Given the description of an element on the screen output the (x, y) to click on. 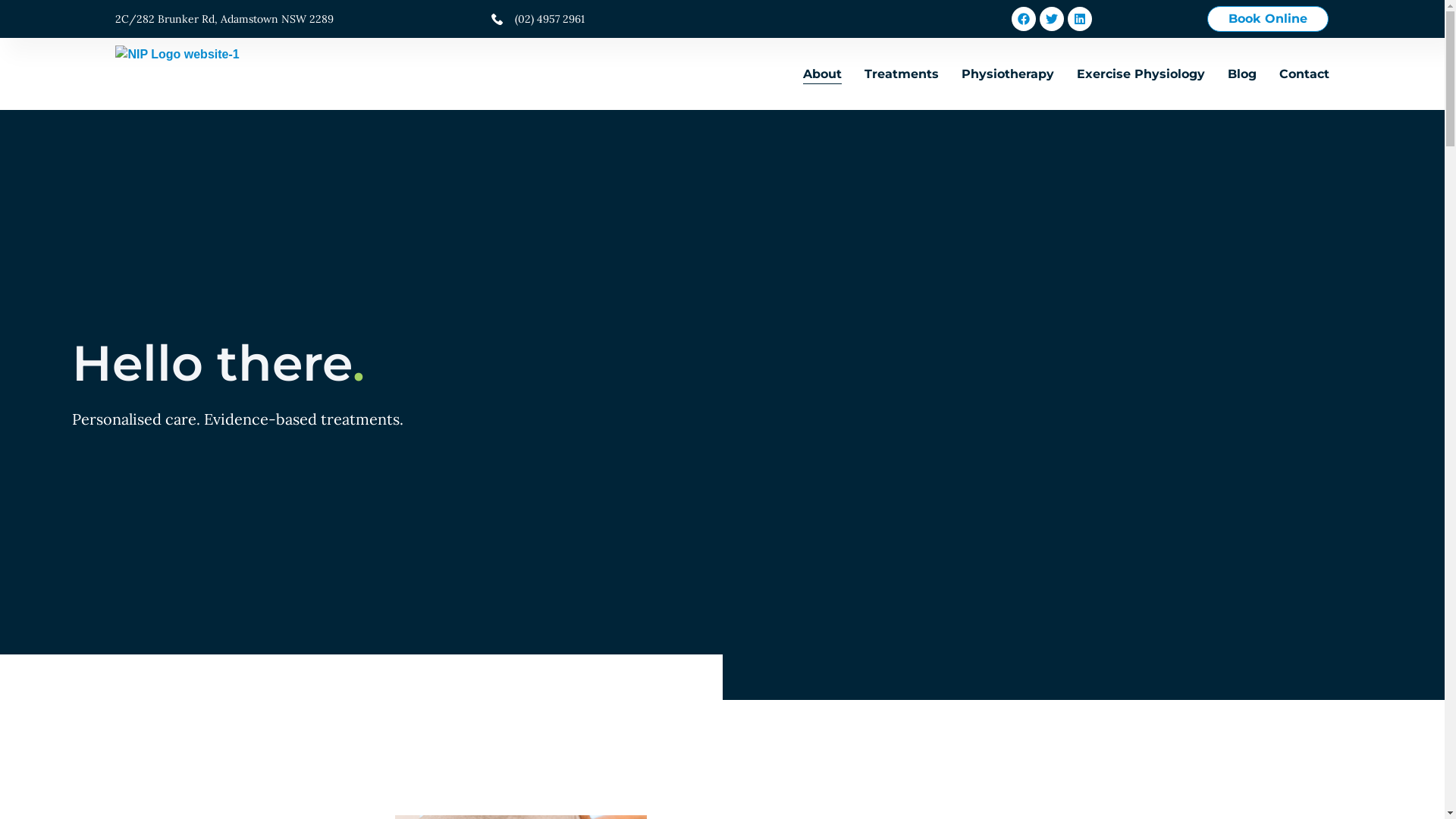
Blog Element type: text (1241, 73)
Book Online Element type: text (1267, 18)
Exercise Physiology Element type: text (1140, 73)
(02) 4957 2961 Element type: text (591, 18)
Contact Element type: text (1304, 73)
Physiotherapy Element type: text (1007, 73)
Treatments Element type: text (901, 73)
NIP Logo website-1 Element type: hover (176, 73)
About Element type: text (822, 73)
